Given the description of an element on the screen output the (x, y) to click on. 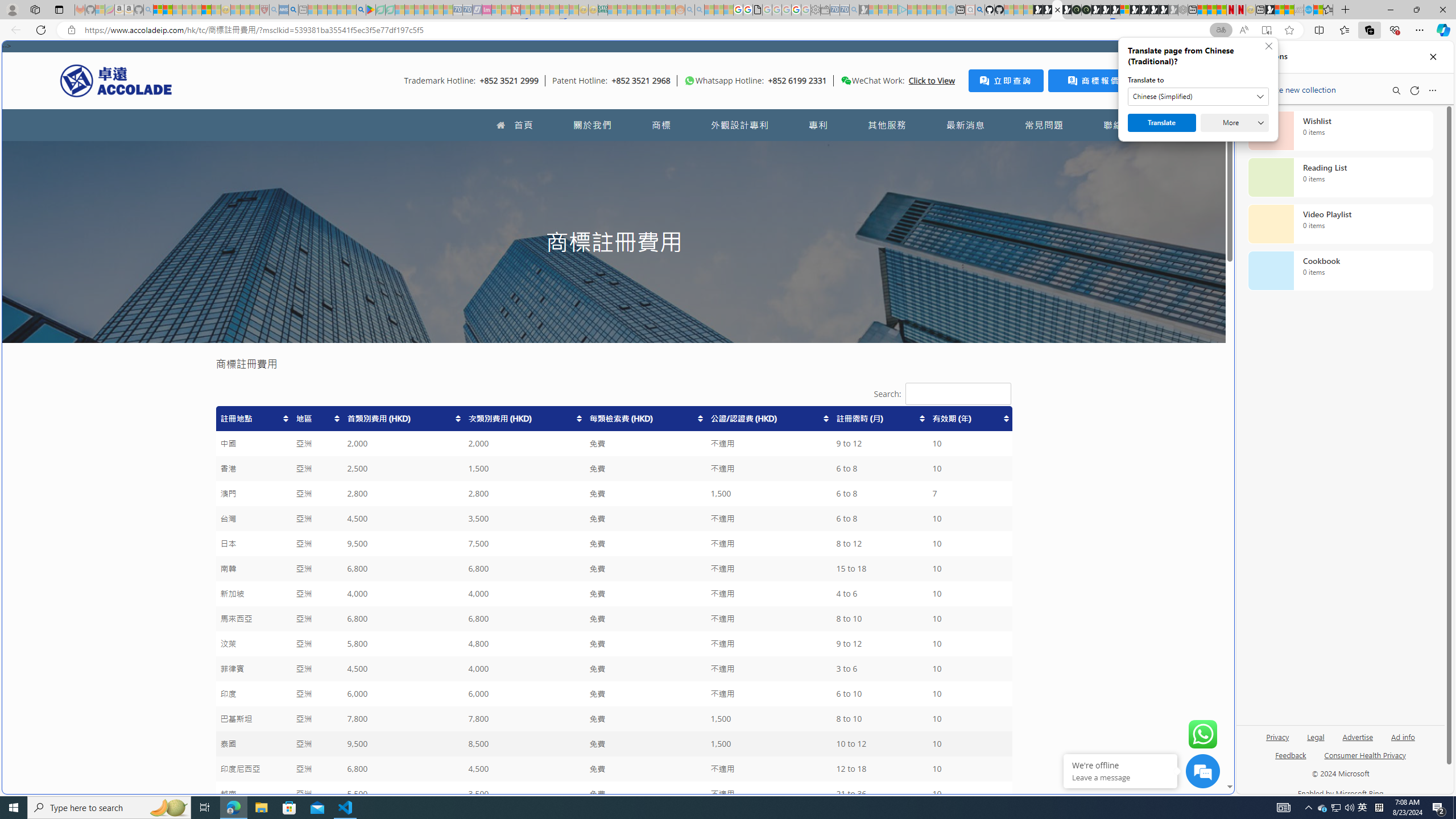
Microsoft account | Privacy (157, 9)
Class: row-8 even (613, 593)
google_privacy_policy_zh-CN.pdf (757, 9)
Wishlist collection, 0 items (1339, 130)
Home | Sky Blue Bikes - Sky Blue Bikes (1118, 242)
